Given the description of an element on the screen output the (x, y) to click on. 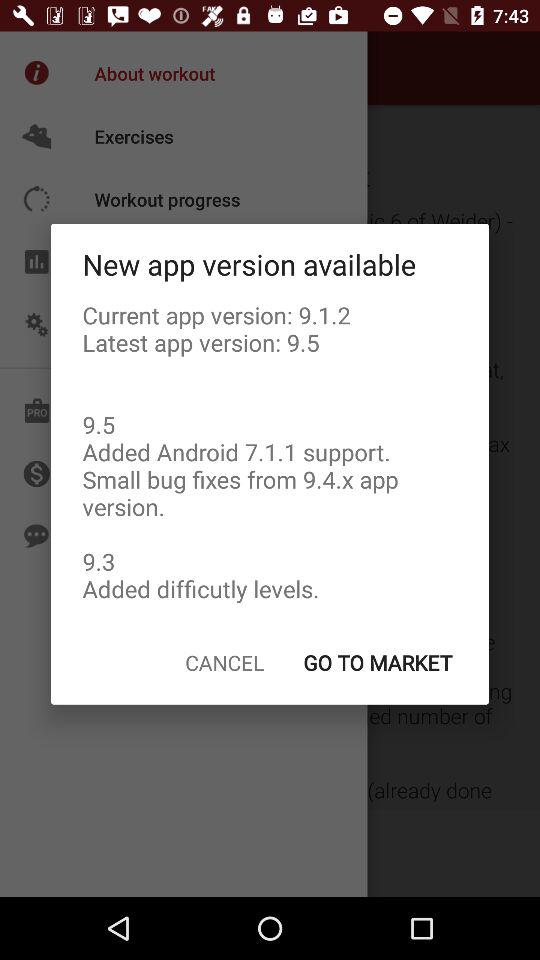
flip until the go to market icon (377, 662)
